Given the description of an element on the screen output the (x, y) to click on. 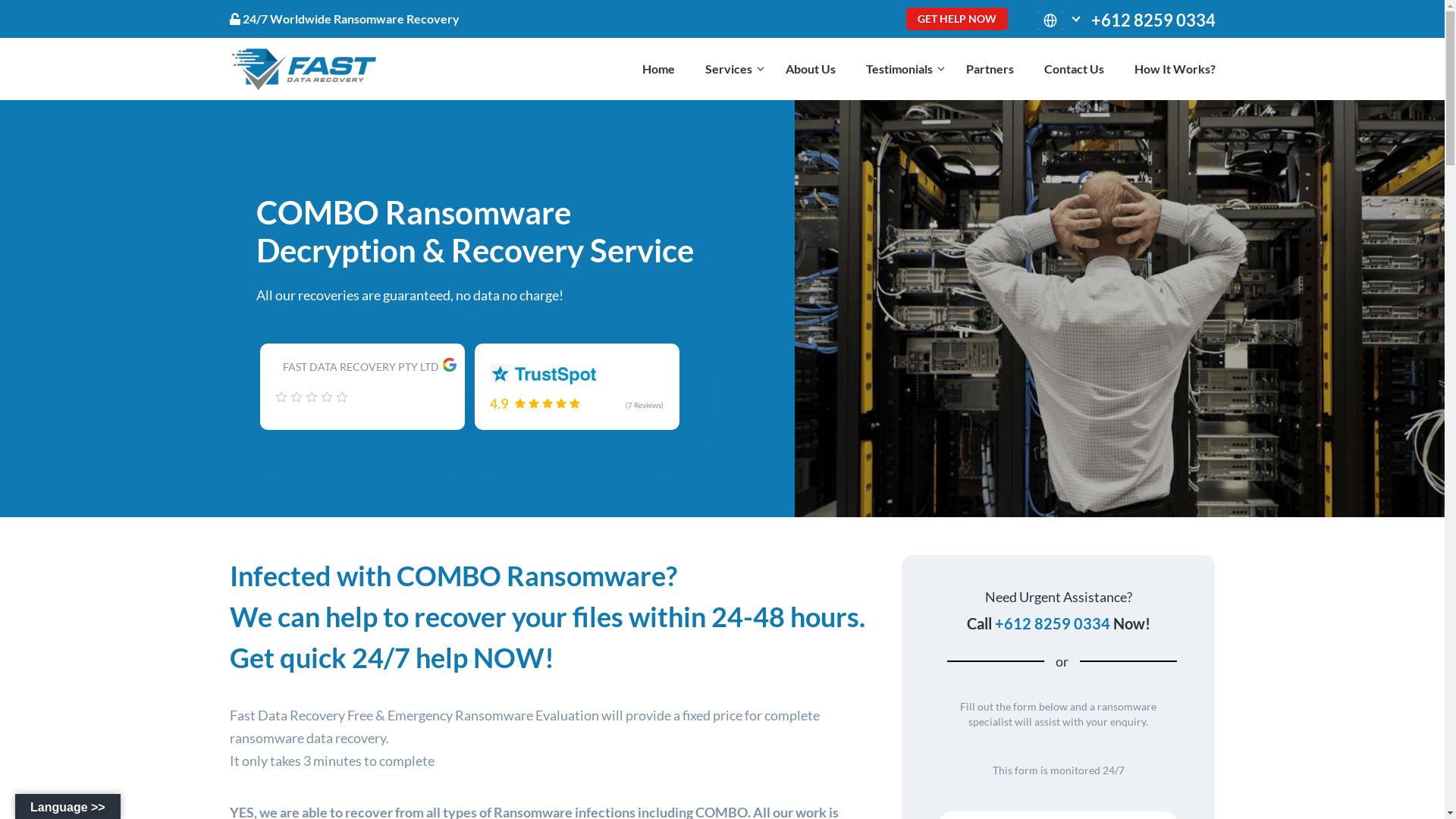
GET HELP NOW Element type: text (956, 18)
+612 8259 0334 Element type: text (1152, 19)
Contact Us Element type: text (1073, 68)
Fast Data Recovery Element type: hover (304, 68)
Partners Element type: text (988, 68)
+612 8259 0334 Element type: text (1052, 623)
Home Element type: text (658, 68)
Services Element type: text (729, 68)
Fast Data Recovery Element type: hover (304, 67)
How It Works? Element type: text (1168, 68)
Testimonials Element type: text (899, 68)
FAST DATA RECOVERY PTY LTD Element type: text (357, 371)
About Us Element type: text (809, 68)
